Given the description of an element on the screen output the (x, y) to click on. 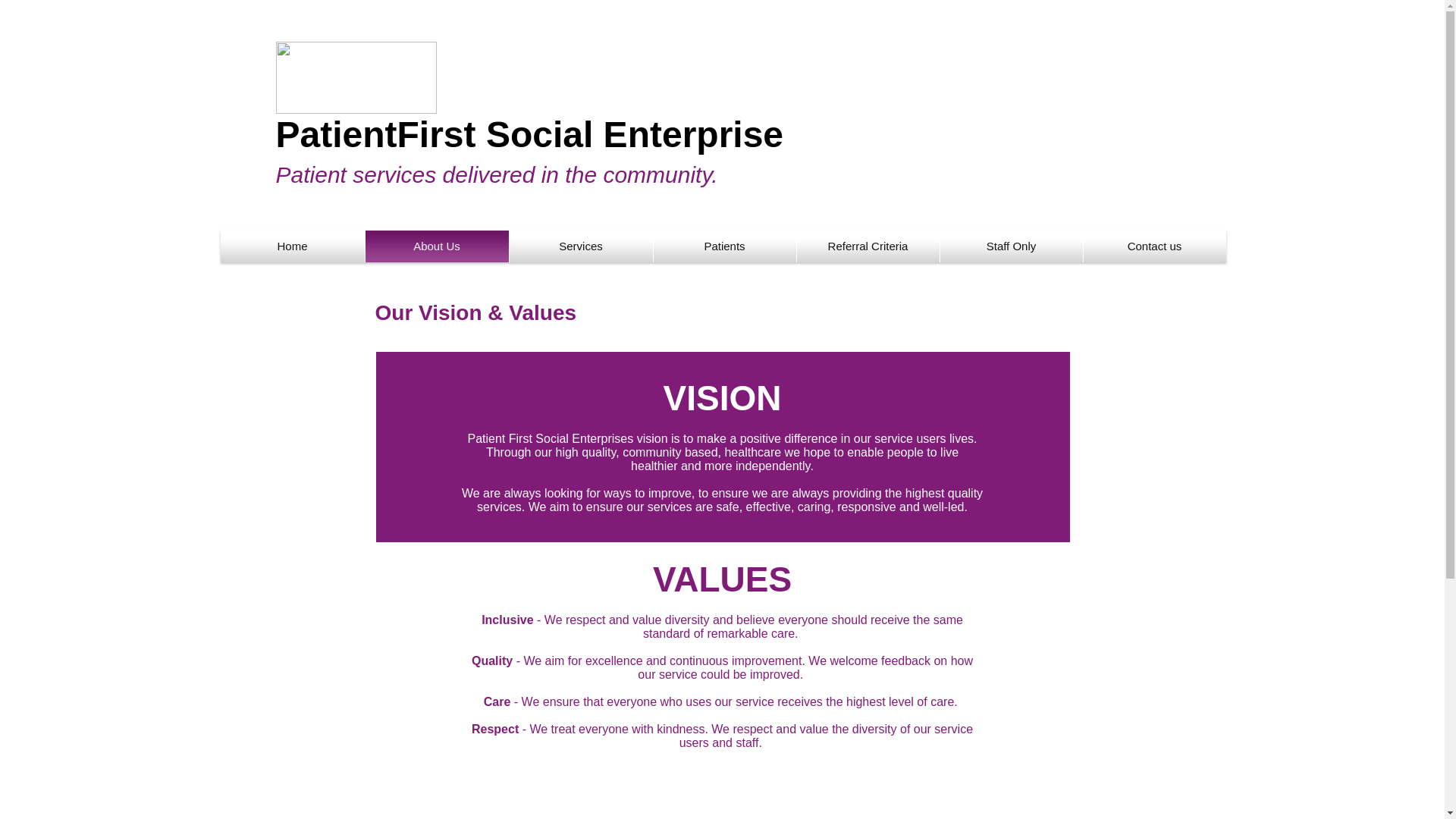
Contact us (1154, 246)
About Us (436, 246)
Services (580, 246)
Home (291, 246)
Referral Criteria (867, 246)
Patients (724, 246)
